Given the description of an element on the screen output the (x, y) to click on. 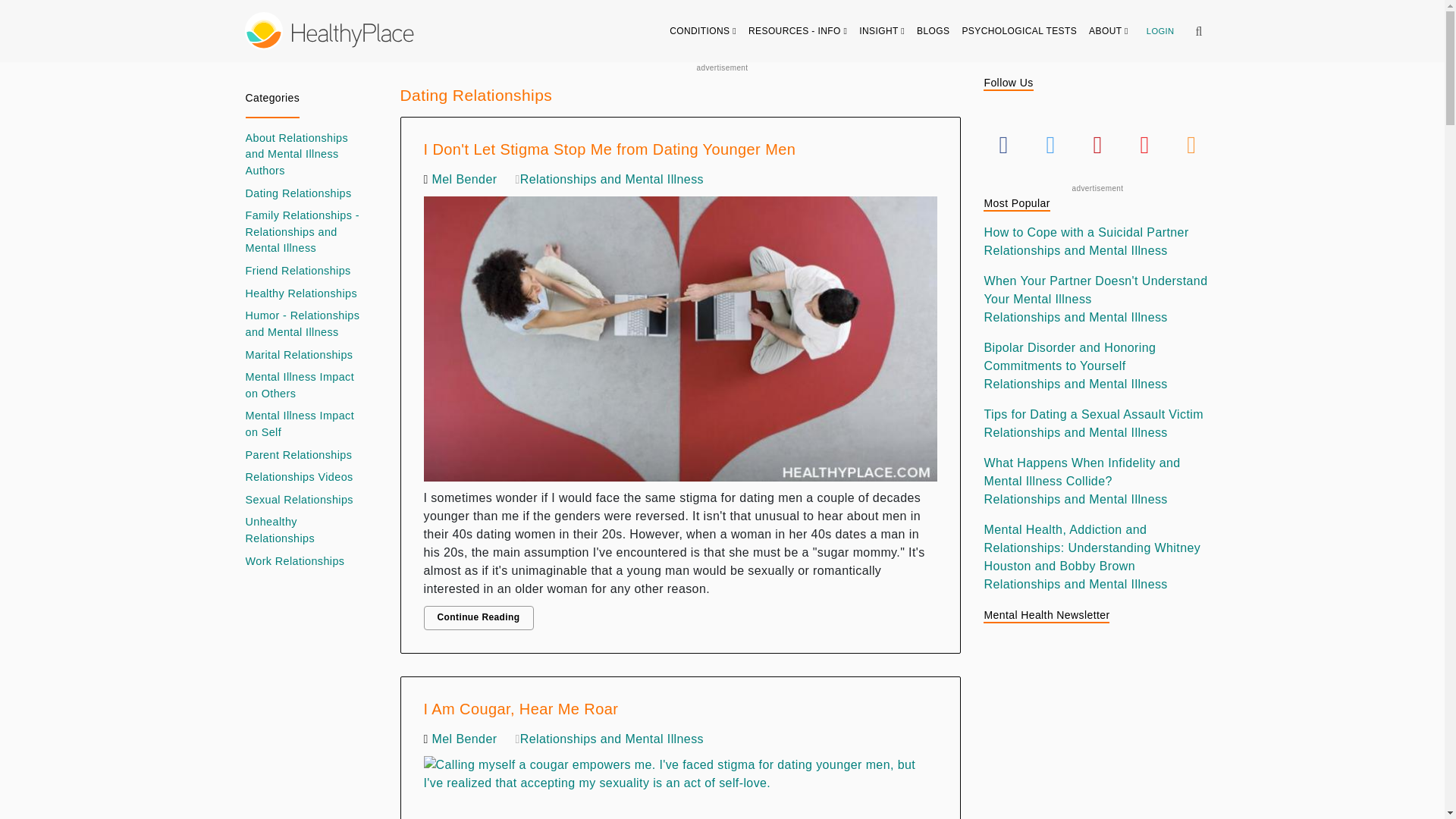
I Am Cougar, Hear Me Roar (680, 783)
CONDITIONS (702, 31)
RESOURCES - INFO (797, 31)
INSIGHT (882, 31)
